Given the description of an element on the screen output the (x, y) to click on. 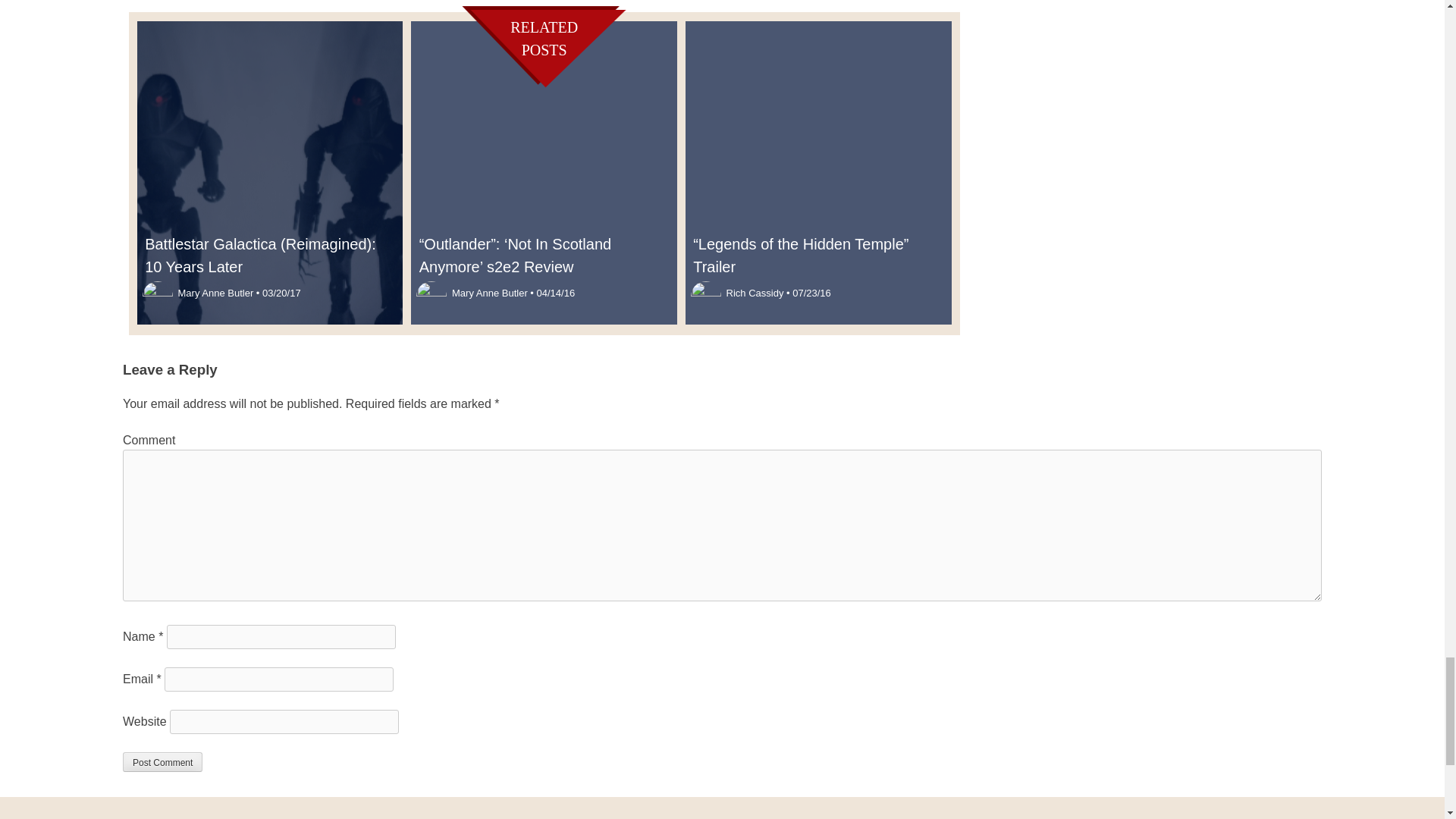
Post Comment (162, 762)
